Given the description of an element on the screen output the (x, y) to click on. 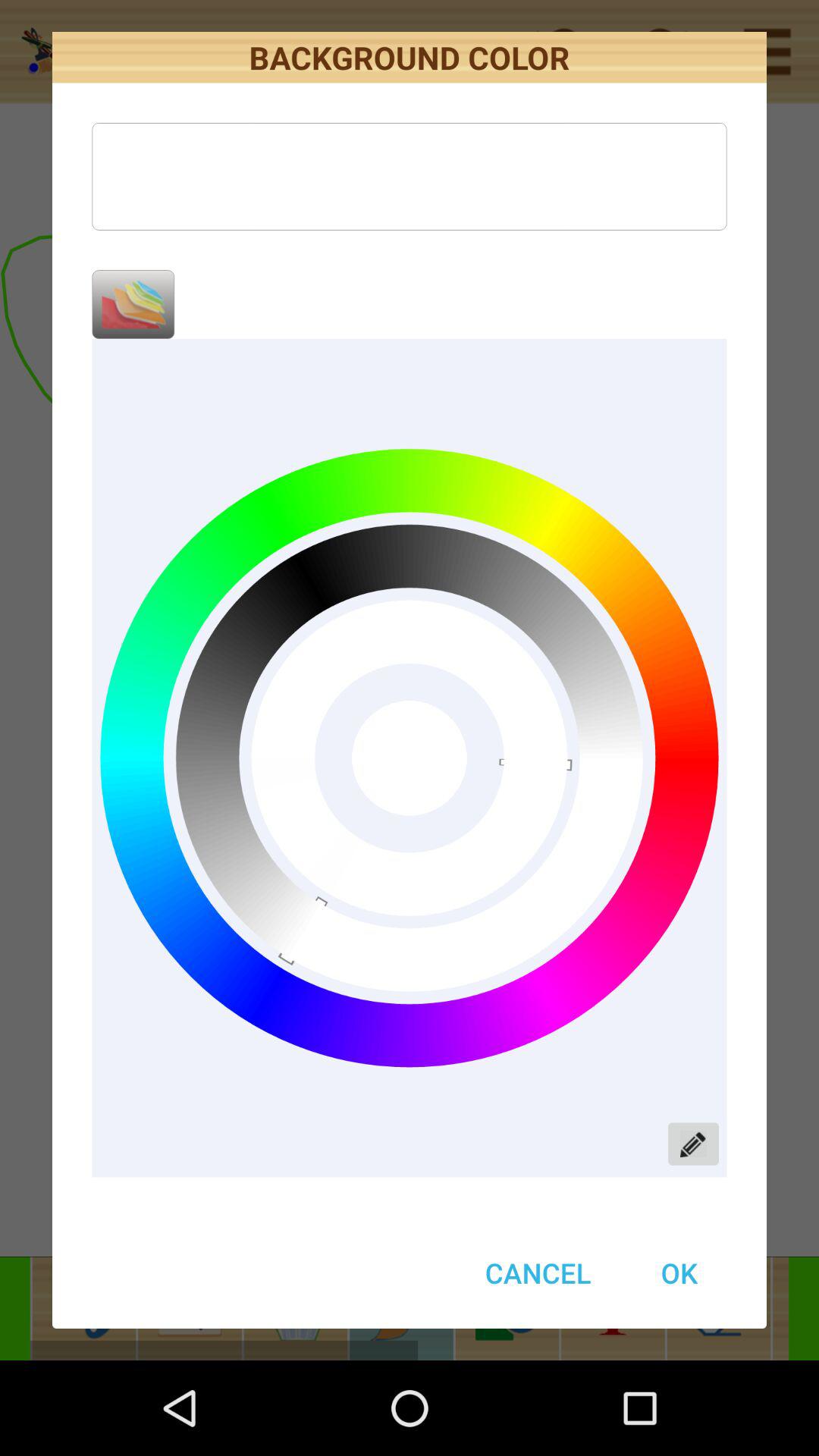
swipe to cancel item (538, 1272)
